Given the description of an element on the screen output the (x, y) to click on. 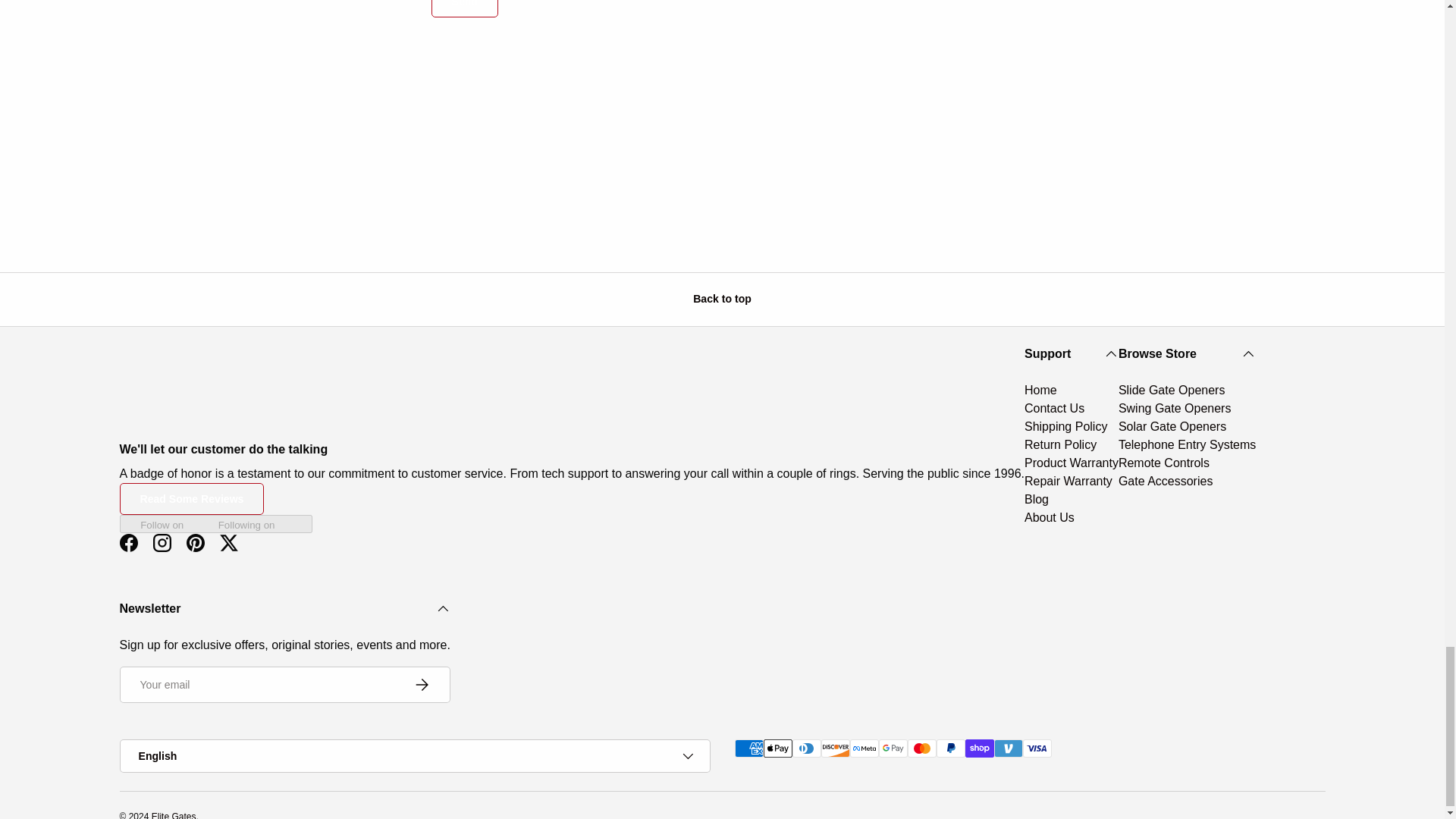
Elite Gates on Facebook (128, 542)
Elite Gates on Pinterest (195, 542)
Elite Gates on Instagram (162, 542)
Elite Gates on Twitter (229, 542)
